Given the description of an element on the screen output the (x, y) to click on. 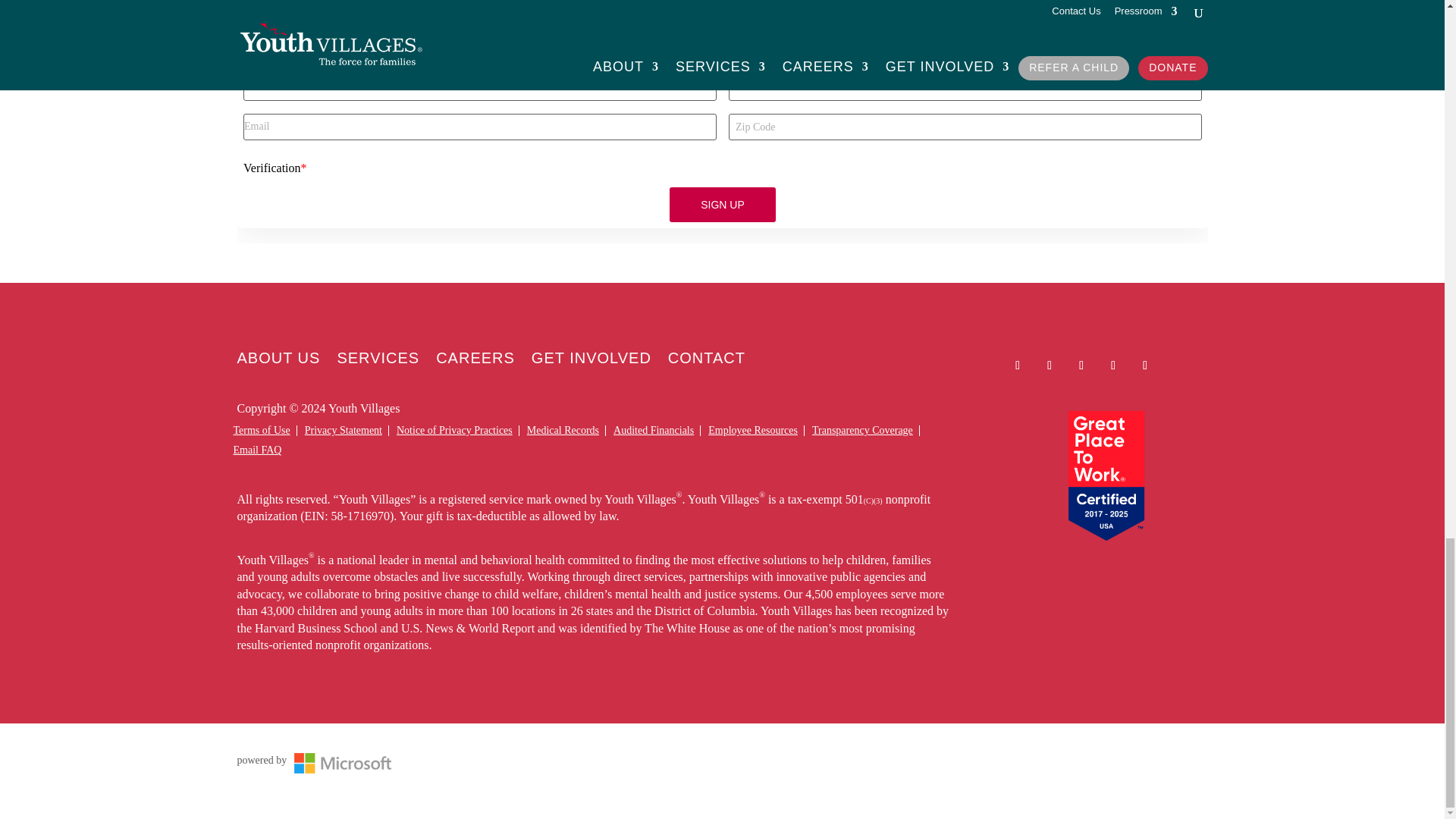
microsoft-logo (342, 762)
Follow on Facebook (1017, 365)
Follow on Youtube (1112, 365)
Follow on LinkedIn (1081, 365)
Follow on Instagram (1144, 365)
Follow on X (1049, 365)
